Given the description of an element on the screen output the (x, y) to click on. 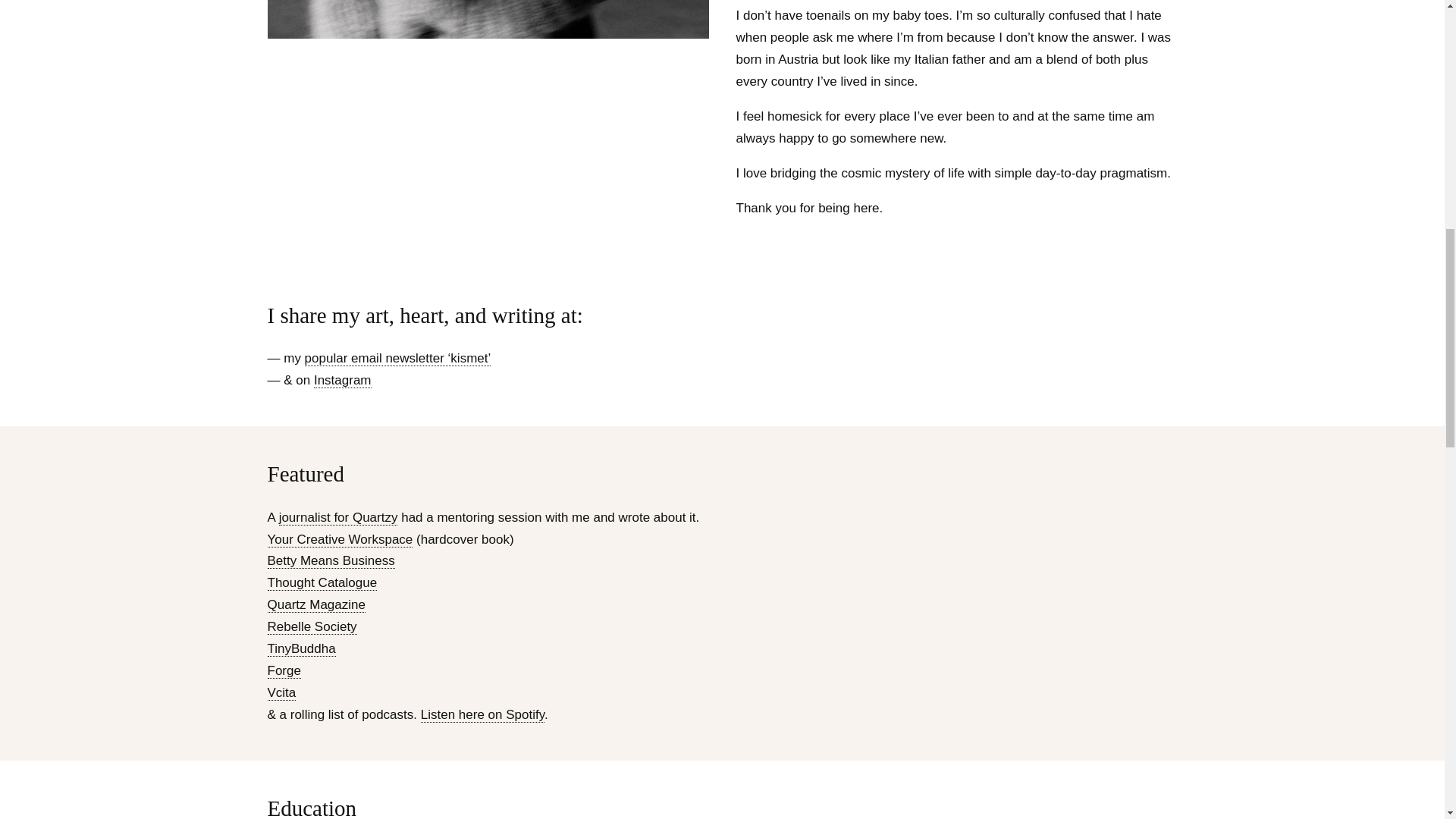
Your Creative Workspace (339, 539)
Instagram (342, 380)
Listen here on Spotify (482, 714)
Forge (282, 670)
Quartz Magazine (315, 604)
Rebelle Society (311, 626)
Thought Catalogue (321, 582)
Vcita (280, 693)
Vienda Maria (486, 19)
journalist for Quartzy (338, 517)
